Given the description of an element on the screen output the (x, y) to click on. 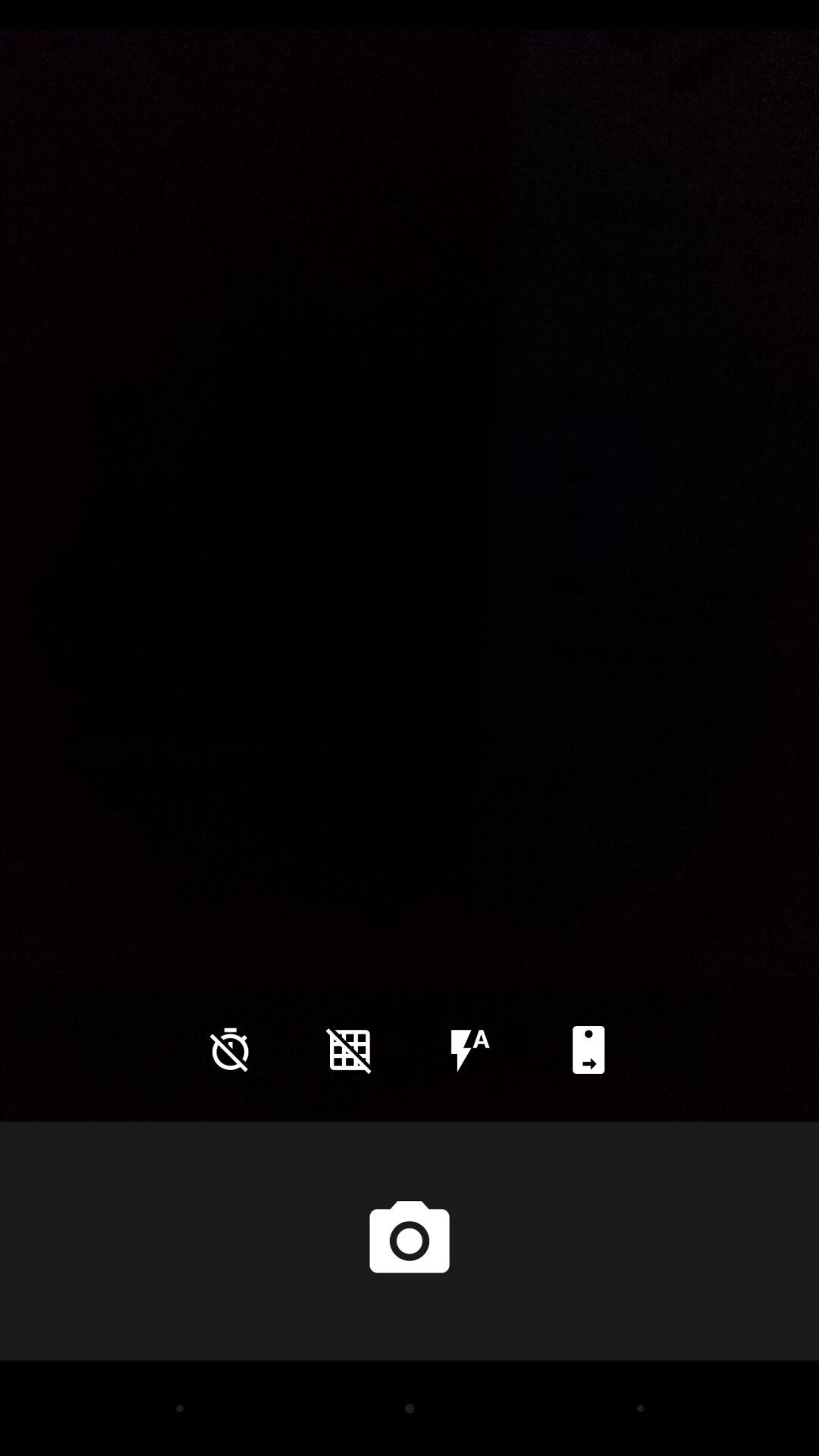
launch item at the bottom left corner (230, 1049)
